Given the description of an element on the screen output the (x, y) to click on. 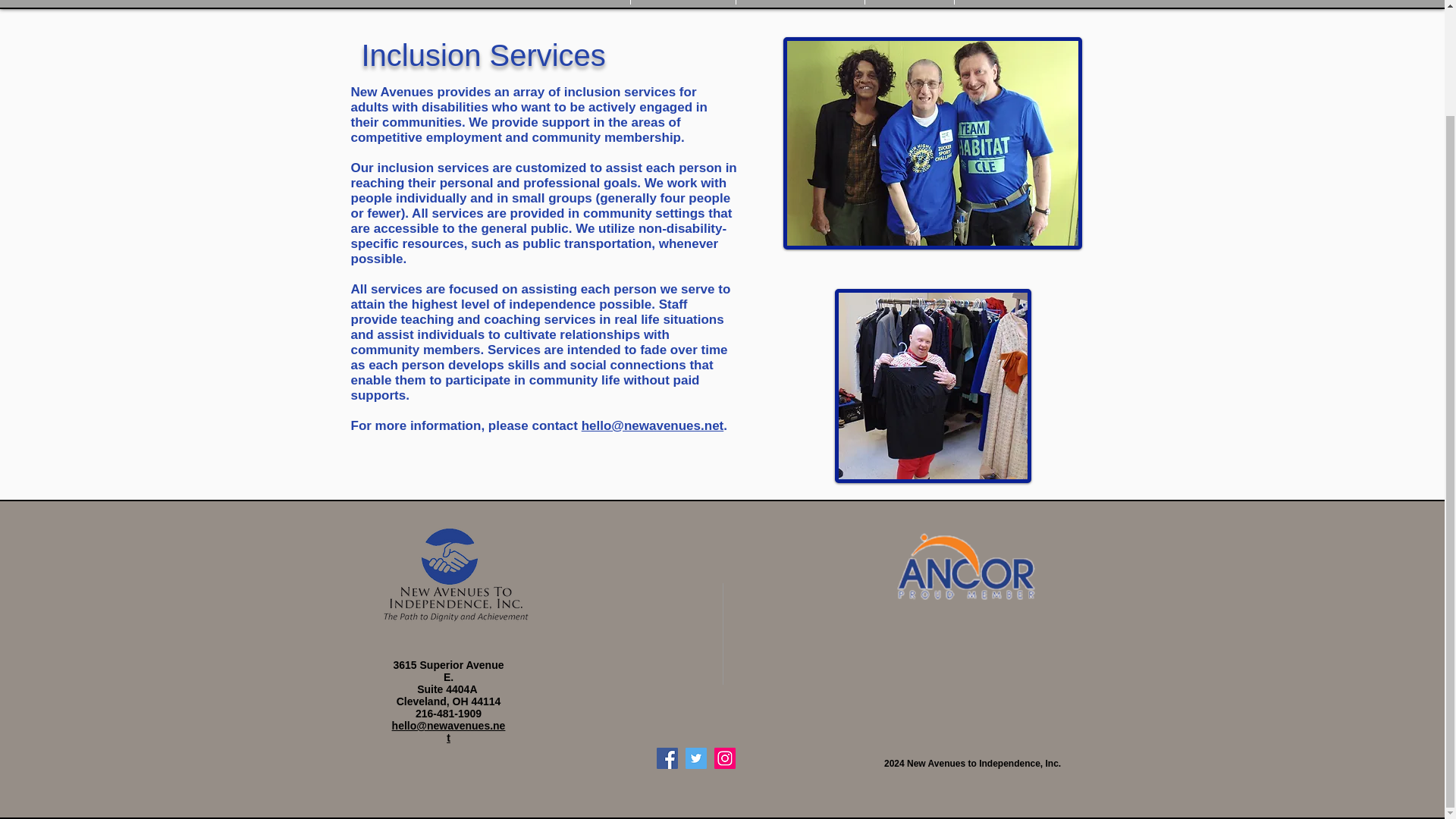
CONTACT (1005, 2)
